Given the description of an element on the screen output the (x, y) to click on. 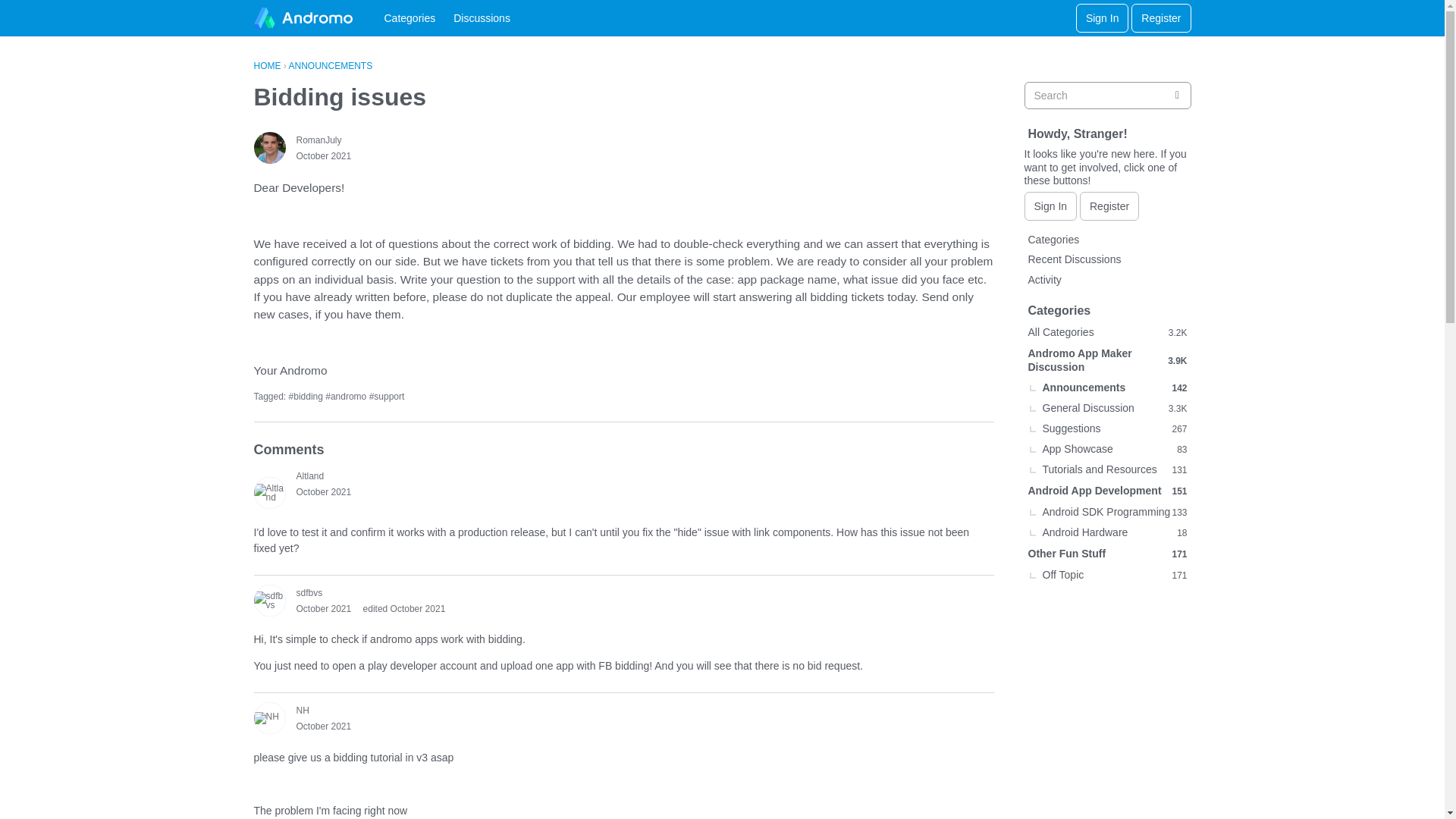
RomanJuly (317, 140)
Altland (309, 476)
October 16, 2021 6:36AM (322, 726)
October 13, 2021 12:09PM (322, 155)
October 14, 2021 6:30AM (322, 491)
October 2021 (322, 155)
October 2021 (322, 491)
Altland (269, 492)
Go (1177, 94)
NH (269, 717)
